Given the description of an element on the screen output the (x, y) to click on. 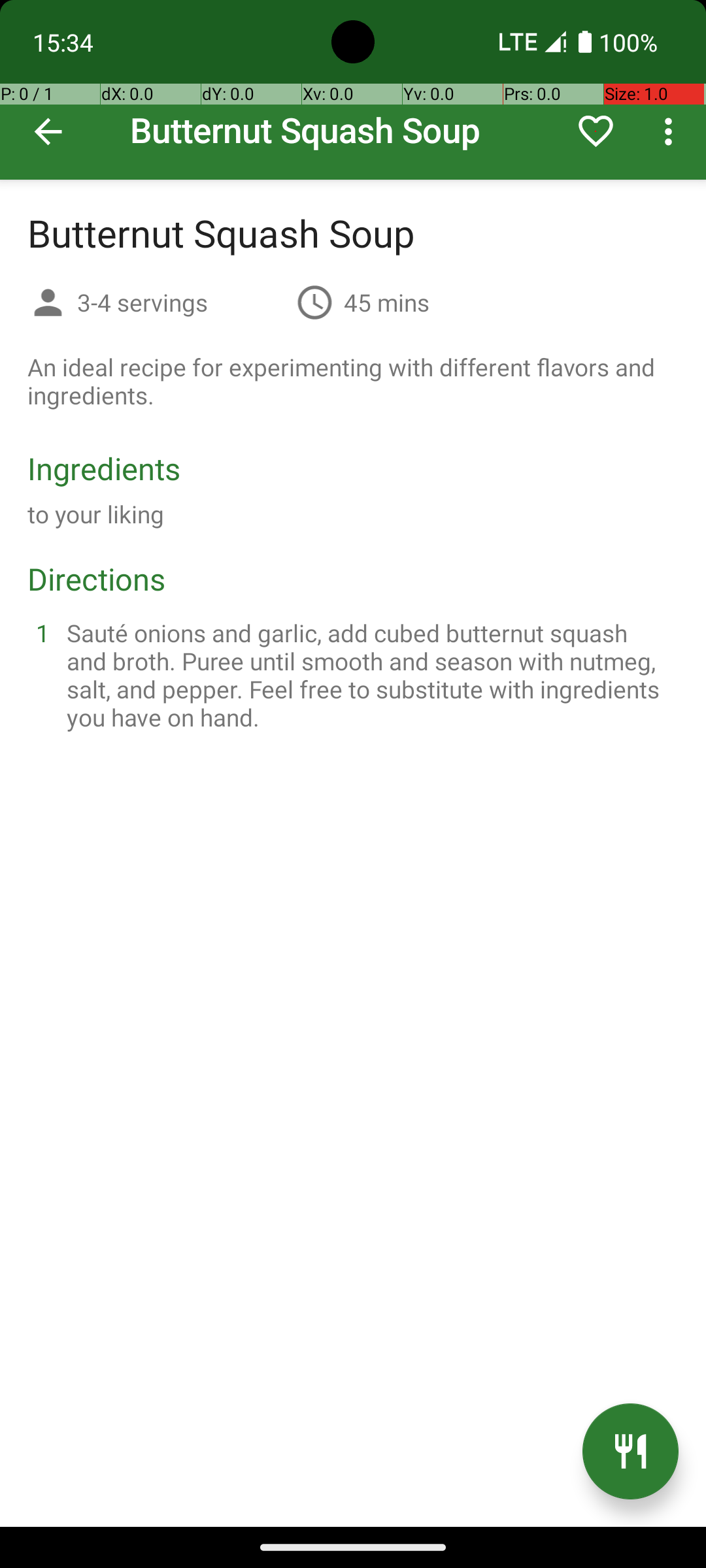
to your liking Element type: android.widget.TextView (95, 513)
Sauté onions and garlic, add cubed butternut squash and broth. Puree until smooth and season with nutmeg, salt, and pepper. Feel free to substitute with ingredients you have on hand. Element type: android.widget.TextView (368, 674)
